Given the description of an element on the screen output the (x, y) to click on. 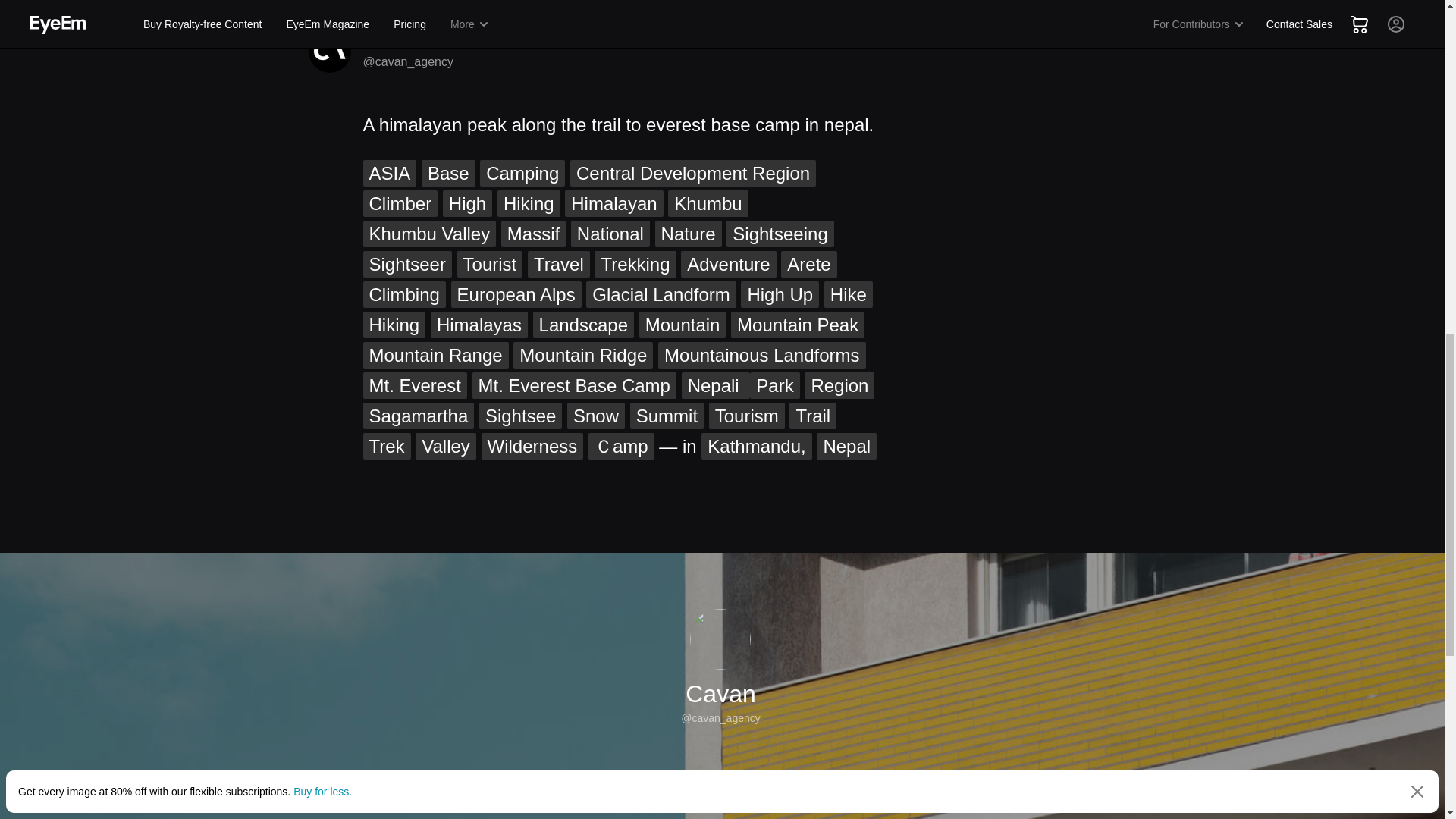
Cavan (384, 41)
Adventure (728, 263)
High (467, 203)
Sightseeing (779, 233)
Travel (558, 263)
ASIA (389, 172)
Khumbu Valley (429, 233)
Hiking (528, 203)
Central Development Region (692, 172)
Khumbu (708, 203)
